Given the description of an element on the screen output the (x, y) to click on. 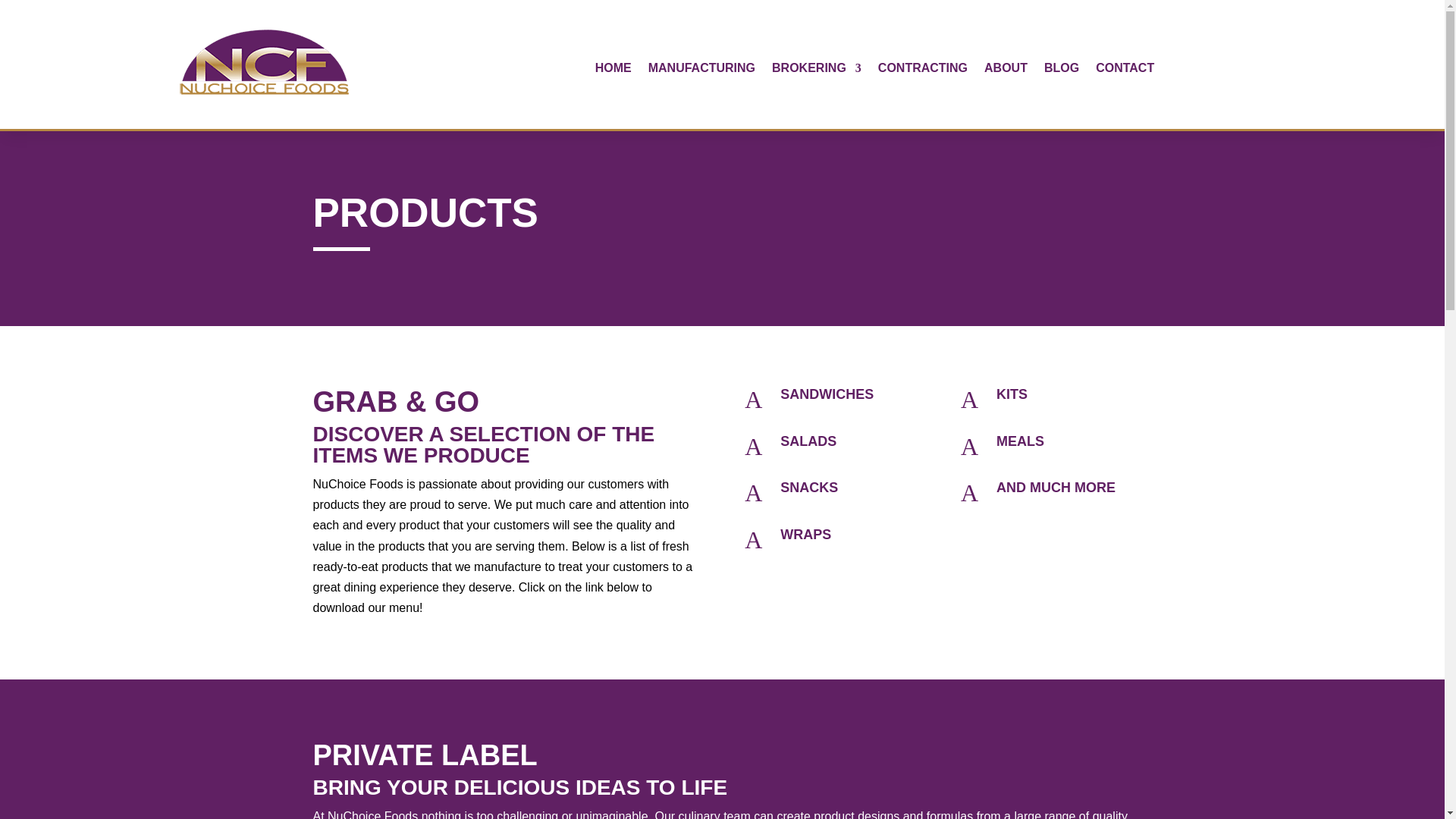
HOME (613, 71)
ABOUT (1005, 71)
CONTACT (1125, 71)
BROKERING (816, 71)
logo-nu-choice (264, 64)
MANUFACTURING (701, 71)
BLOG (1060, 71)
CONTRACTING (922, 71)
